Given the description of an element on the screen output the (x, y) to click on. 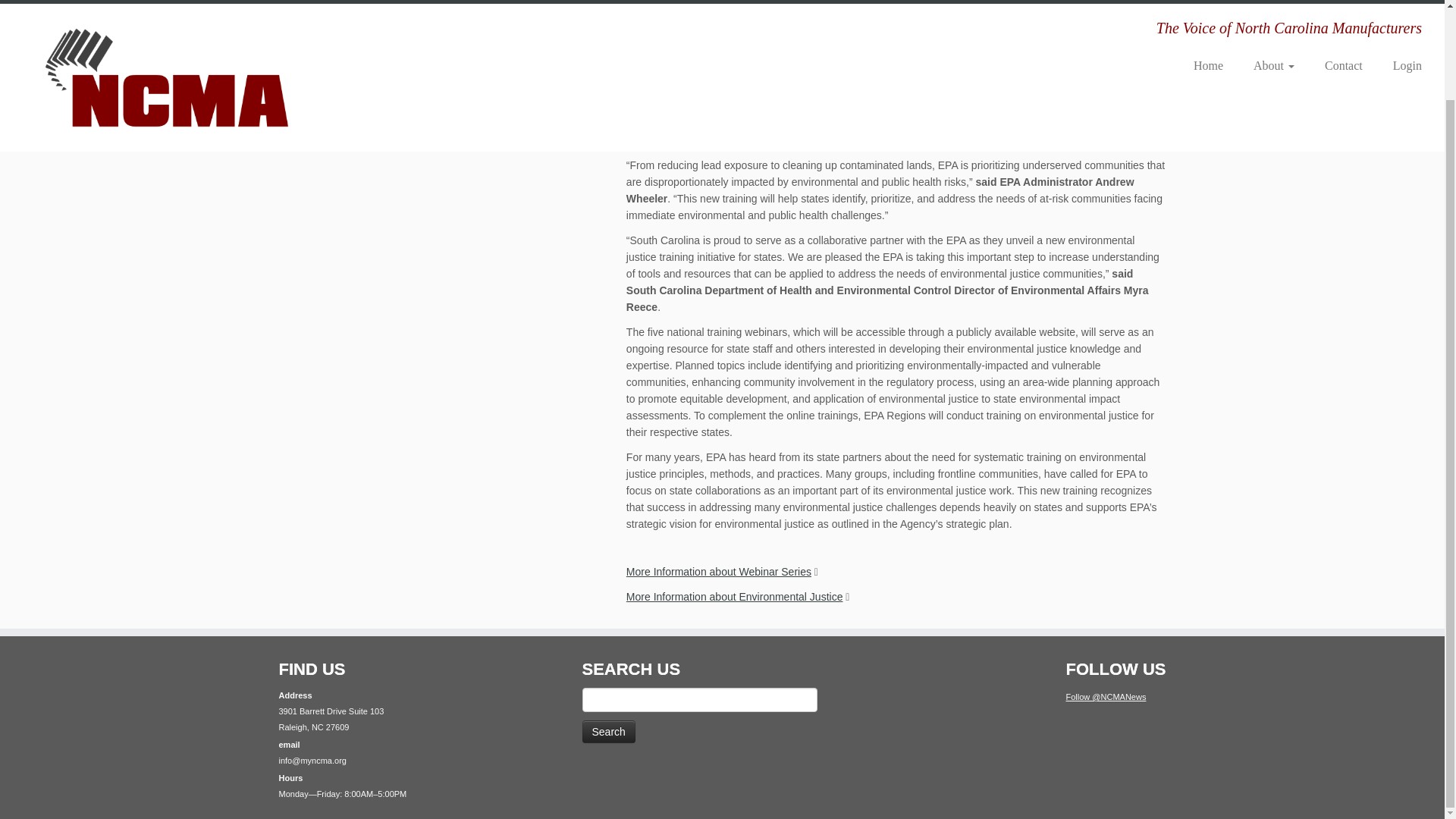
More Information about Webinar Series (718, 571)
Search (608, 731)
Search (608, 731)
More Information about Environmental Justice (734, 596)
